Given the description of an element on the screen output the (x, y) to click on. 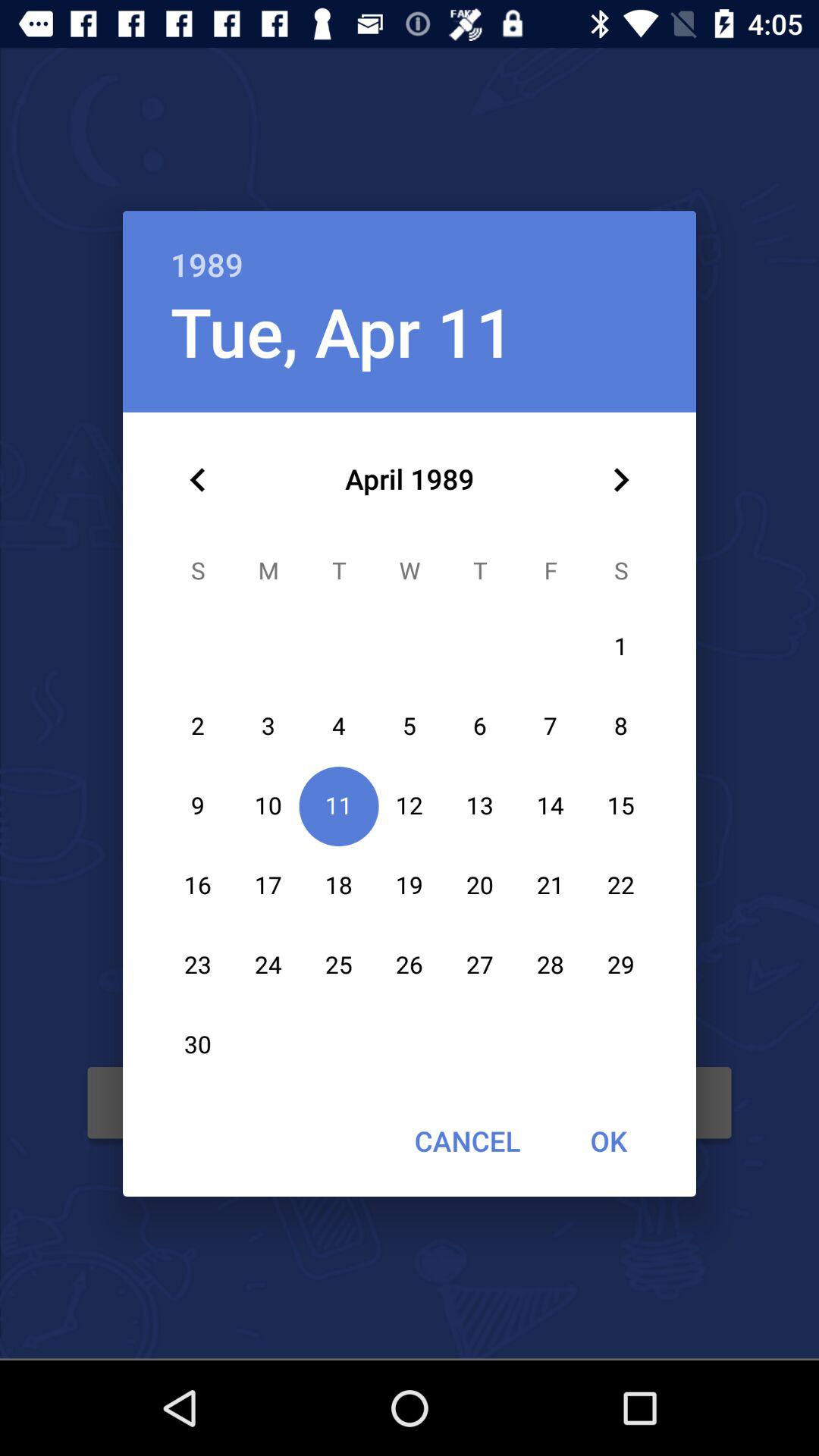
turn on item to the right of cancel icon (608, 1140)
